Given the description of an element on the screen output the (x, y) to click on. 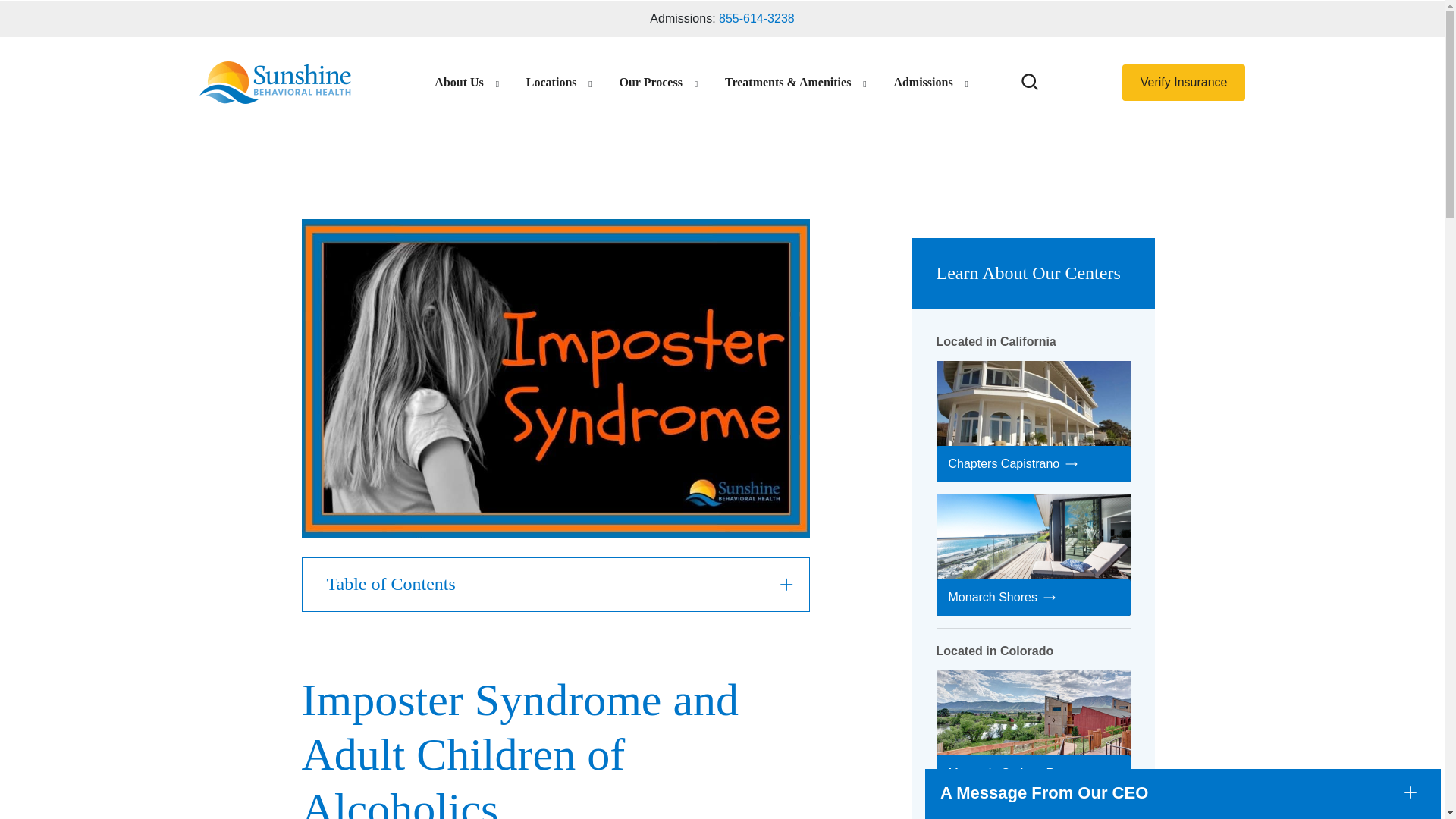
About Us (458, 82)
Our Process (649, 82)
Locations (550, 82)
855-614-3238 (756, 18)
Admissions (922, 82)
